Given the description of an element on the screen output the (x, y) to click on. 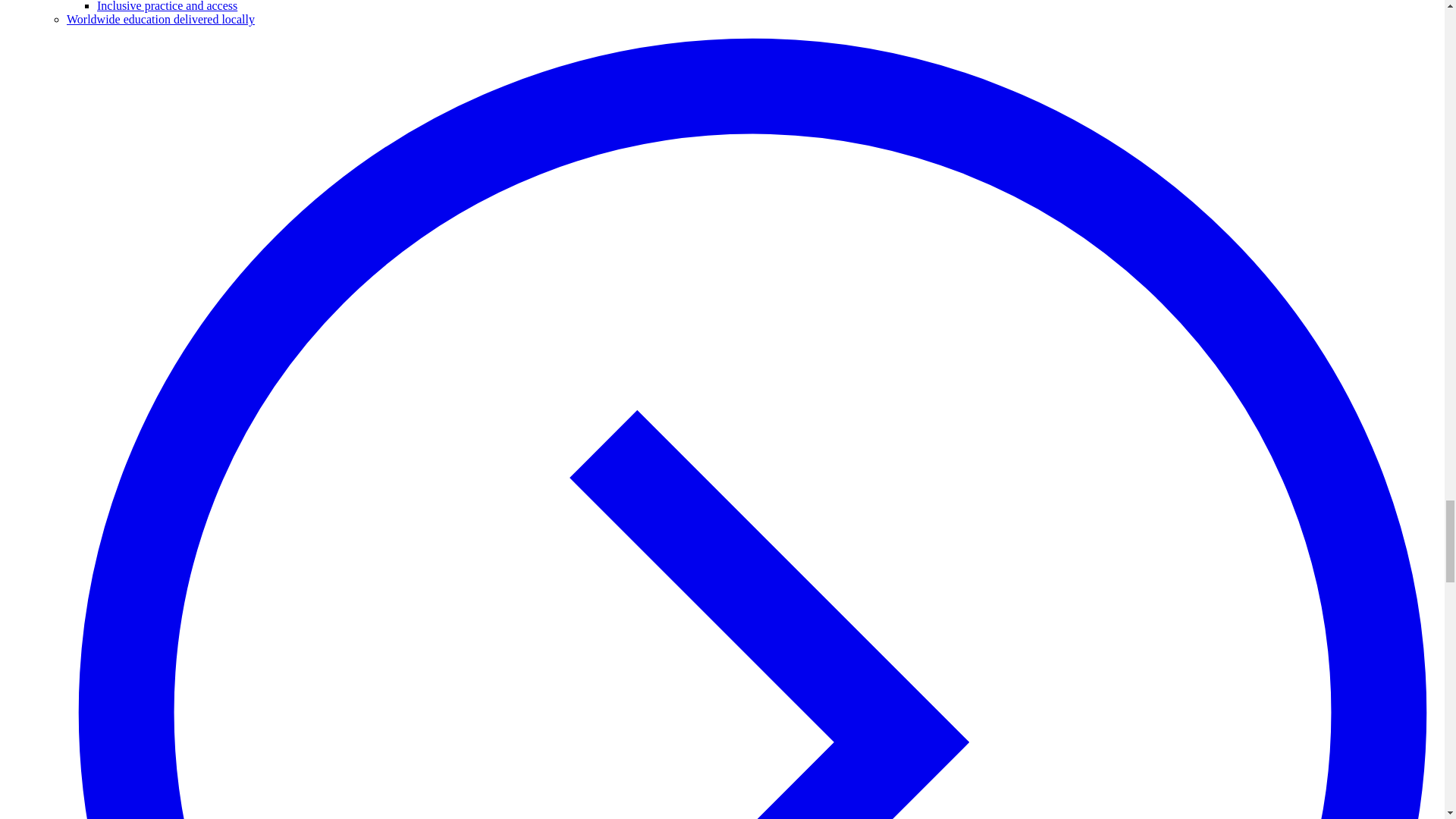
Inclusive practice and access (167, 6)
